Given the description of an element on the screen output the (x, y) to click on. 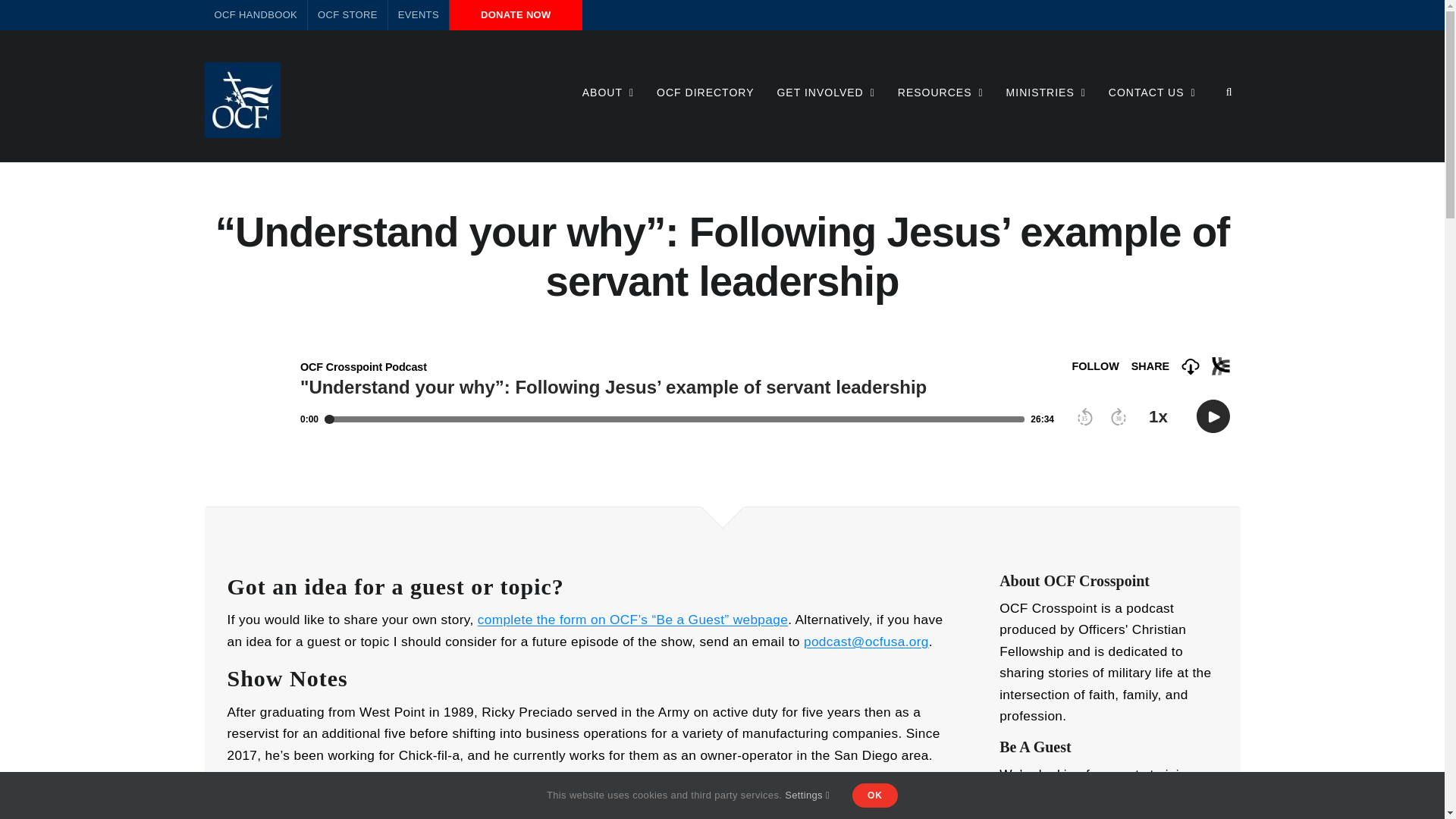
OCF HANDBOOK (256, 15)
DONATE NOW (515, 15)
Embed Player (722, 394)
GET INVOLVED (825, 90)
RESOURCES (941, 90)
OCF DIRECTORY (705, 90)
OCF STORE (347, 15)
EVENTS (418, 15)
